Given the description of an element on the screen output the (x, y) to click on. 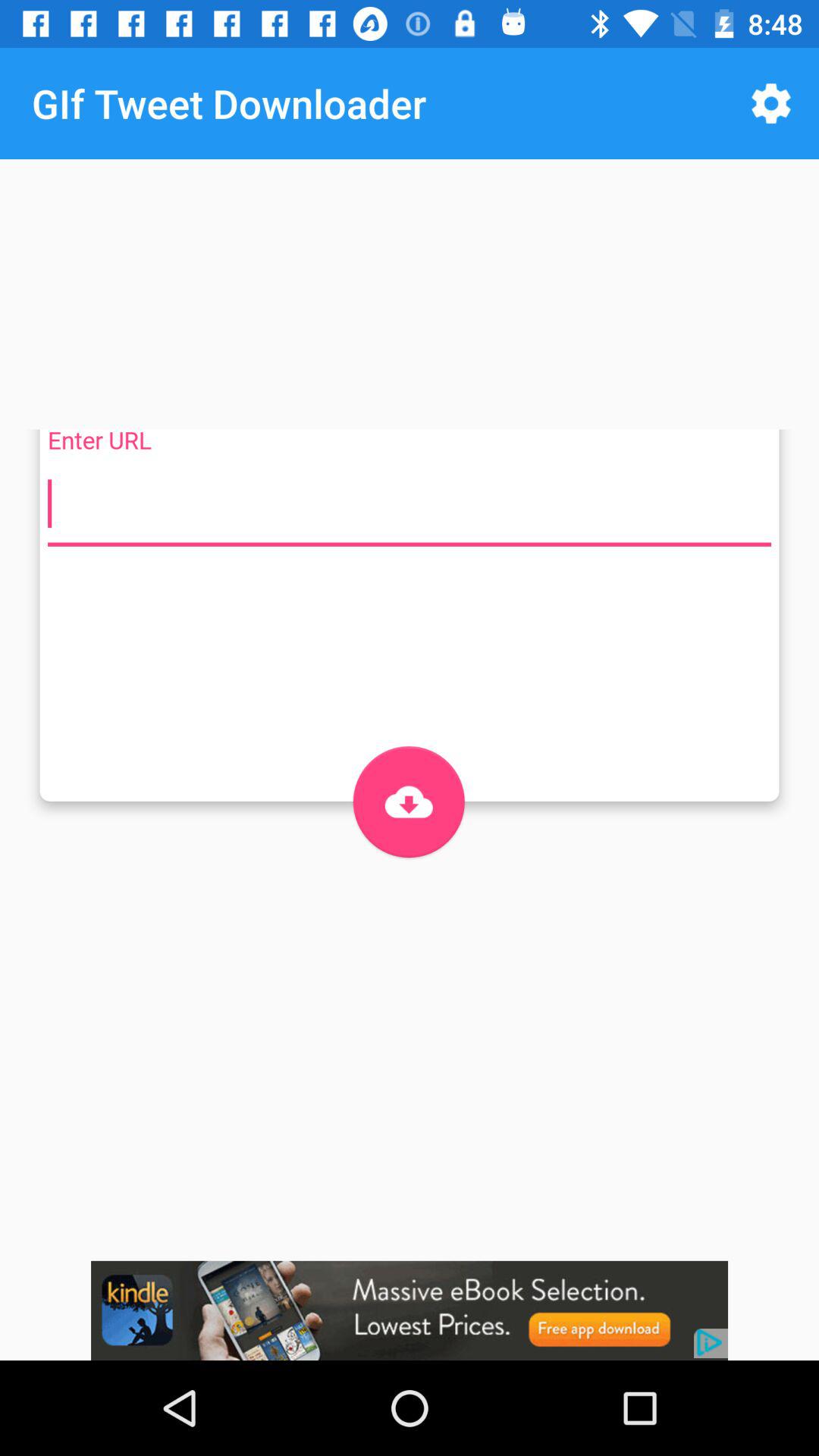
enter url (409, 504)
